Given the description of an element on the screen output the (x, y) to click on. 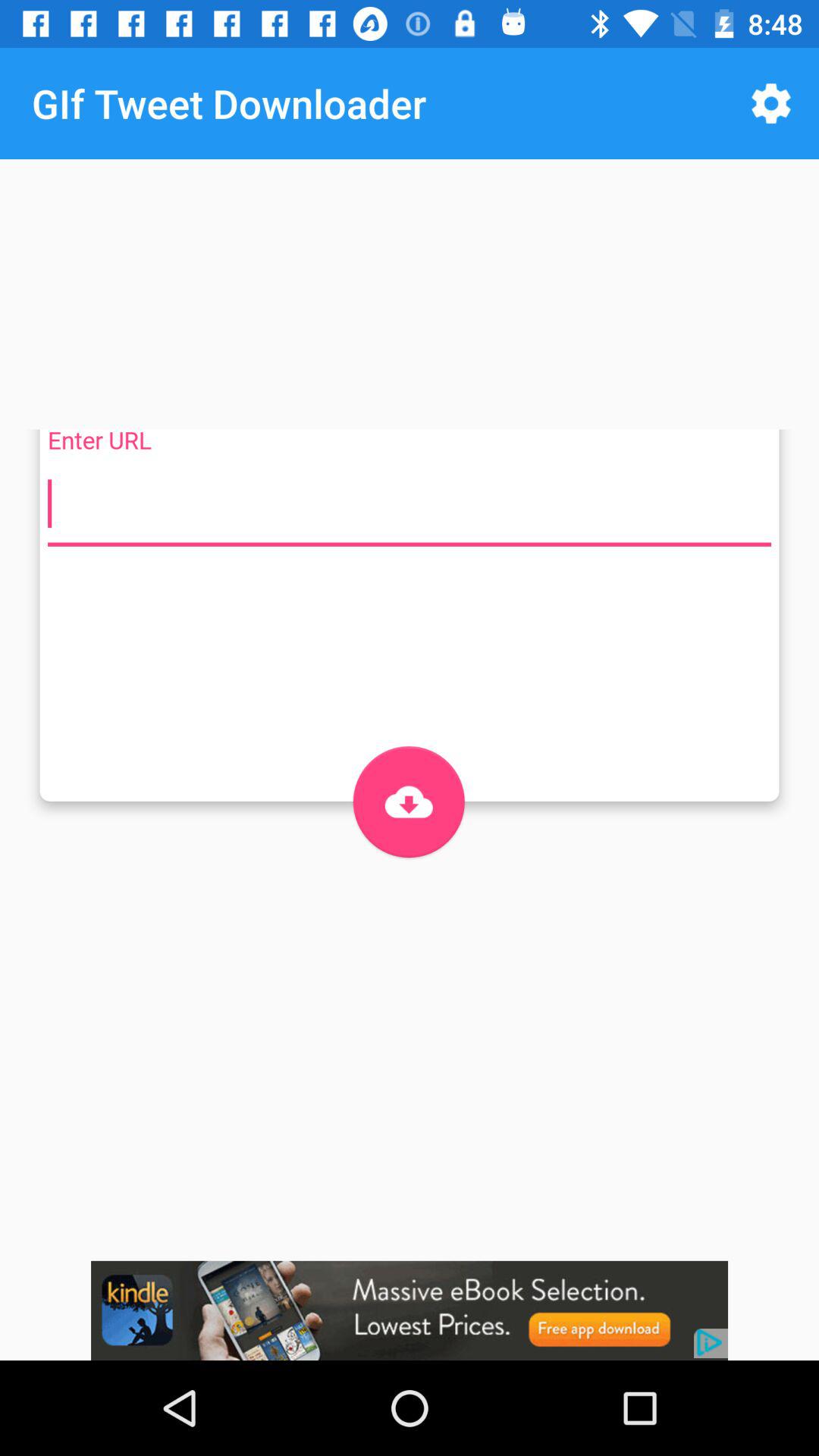
enter url (409, 504)
